Given the description of an element on the screen output the (x, y) to click on. 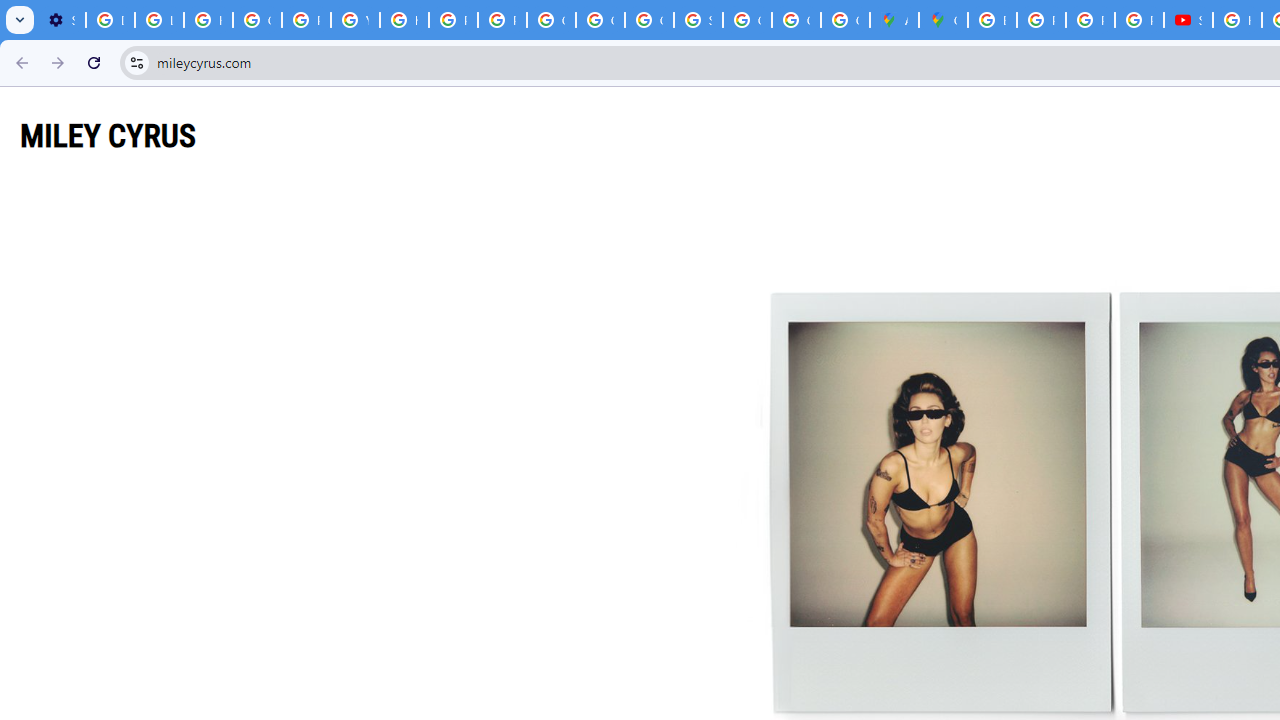
Settings - Customize profile (61, 20)
Privacy Help Center - Policies Help (452, 20)
Sign in - Google Accounts (698, 20)
Learn how to find your photos - Google Photos Help (159, 20)
Subscriptions - YouTube (1188, 20)
Google Account Help (257, 20)
Privacy Help Center - Policies Help (306, 20)
YouTube (355, 20)
